Given the description of an element on the screen output the (x, y) to click on. 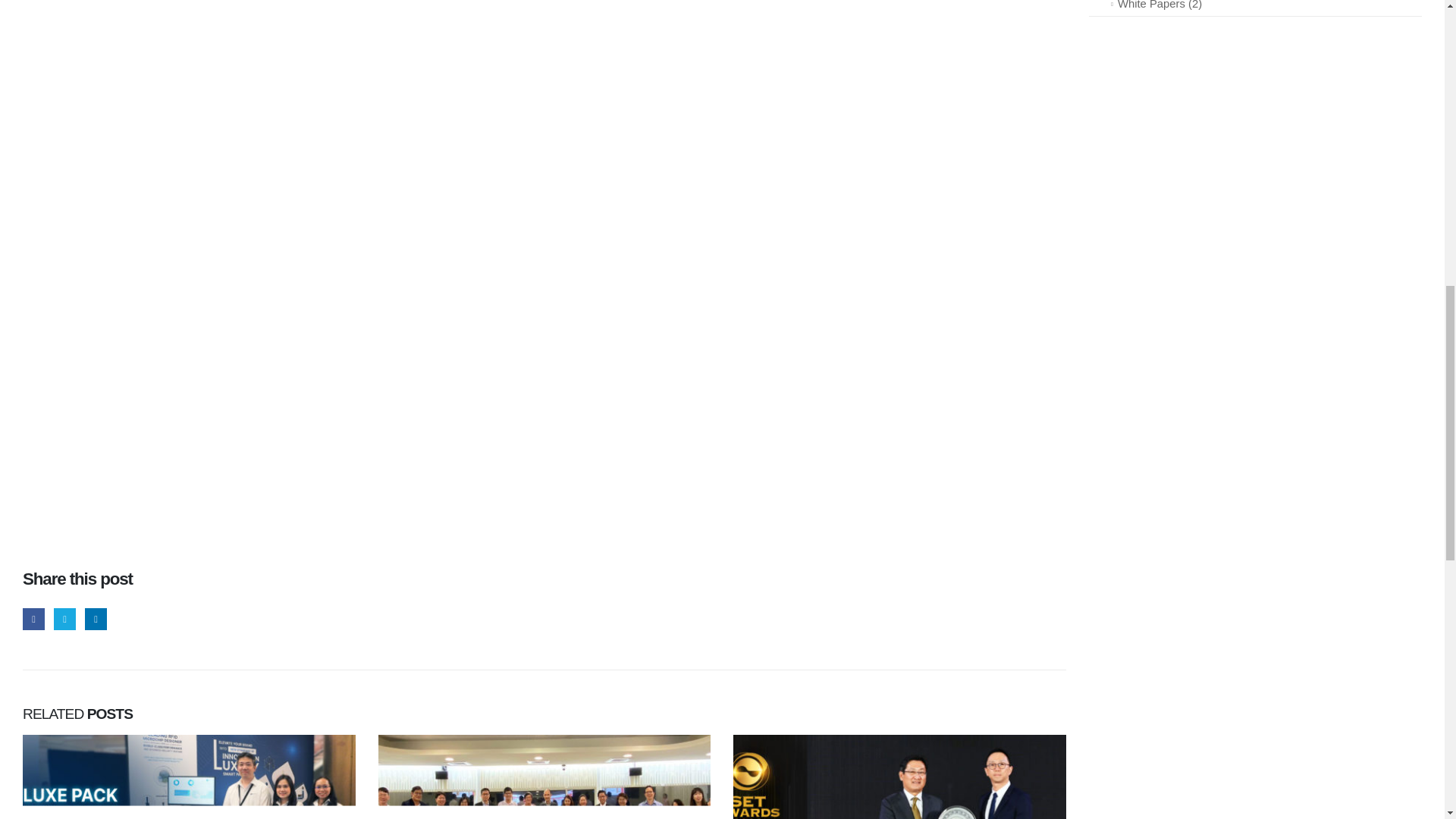
Twitter (64, 618)
LinkedIn (95, 618)
Twitter (64, 618)
Facebook (34, 618)
LinkedIn (95, 618)
Facebook (34, 618)
